Given the description of an element on the screen output the (x, y) to click on. 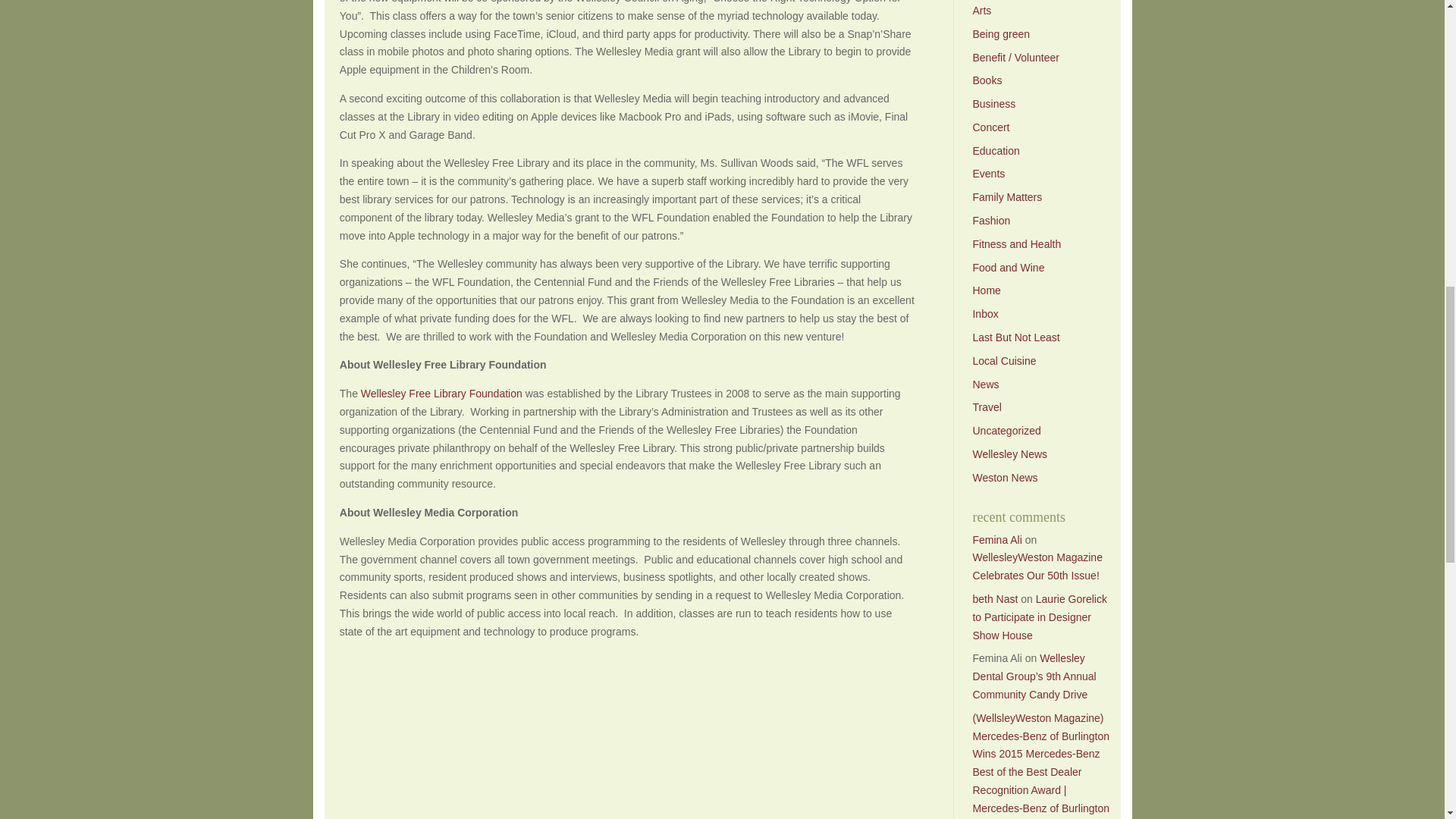
Being green (1000, 33)
Wellesley Free Library Foundation (441, 393)
Books (986, 80)
Business (993, 103)
Arts (981, 10)
